Given the description of an element on the screen output the (x, y) to click on. 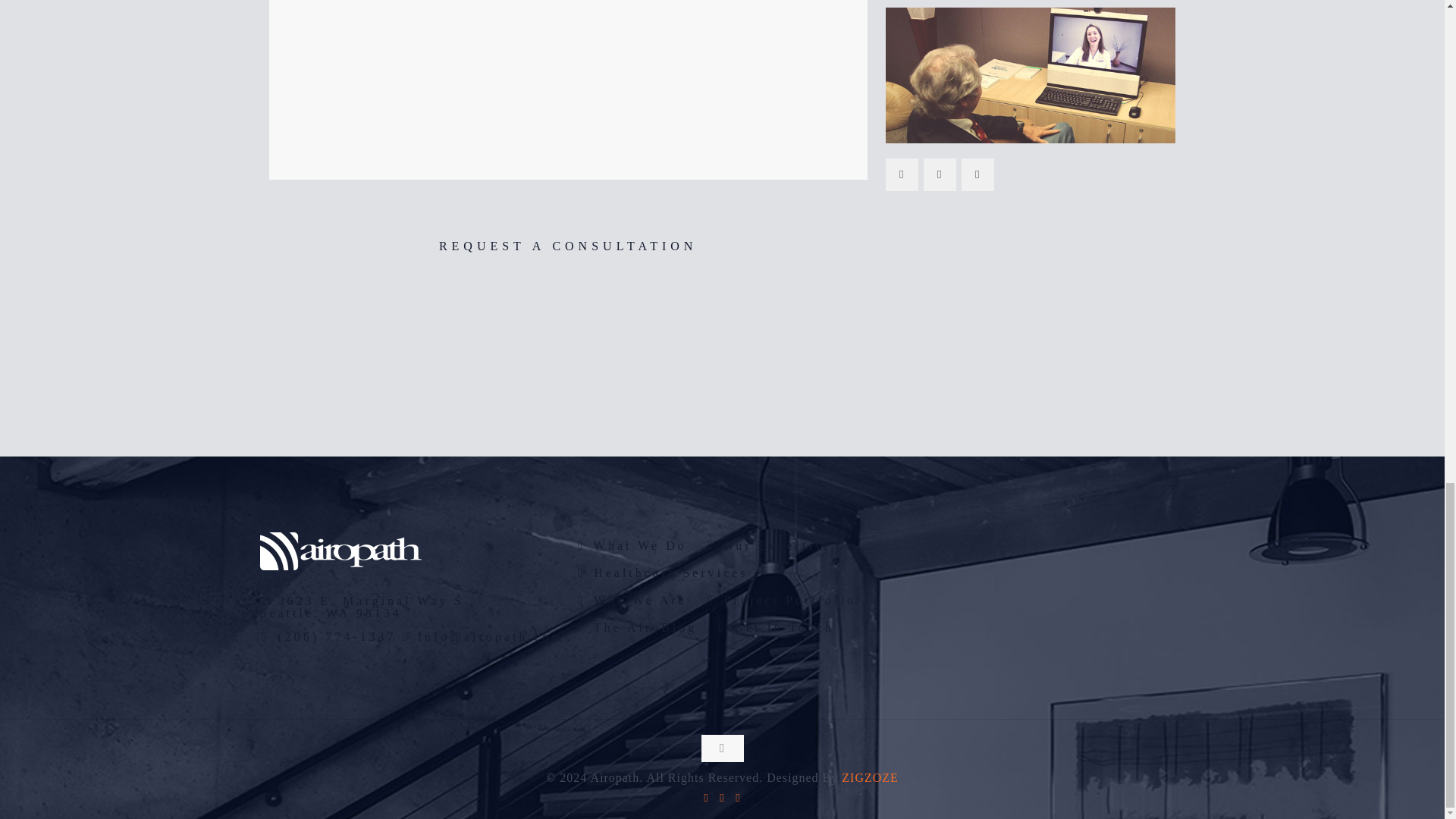
REQUEST A CONSULTATION (566, 245)
